Given the description of an element on the screen output the (x, y) to click on. 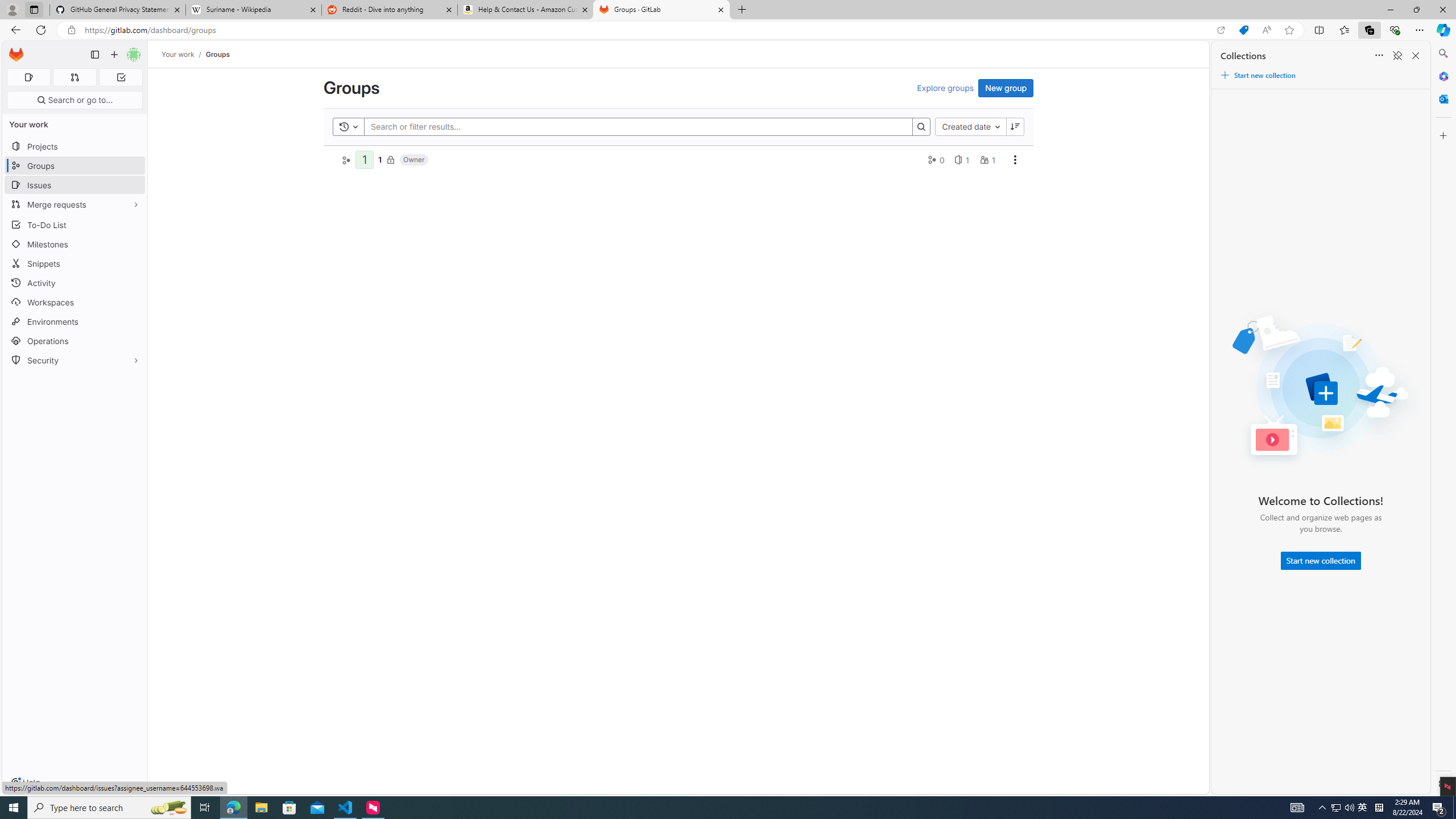
1 (379, 159)
Sort direction: Descending (1015, 126)
Snippets (74, 262)
Groups (217, 53)
Assigned issues 0 (28, 76)
